Given the description of an element on the screen output the (x, y) to click on. 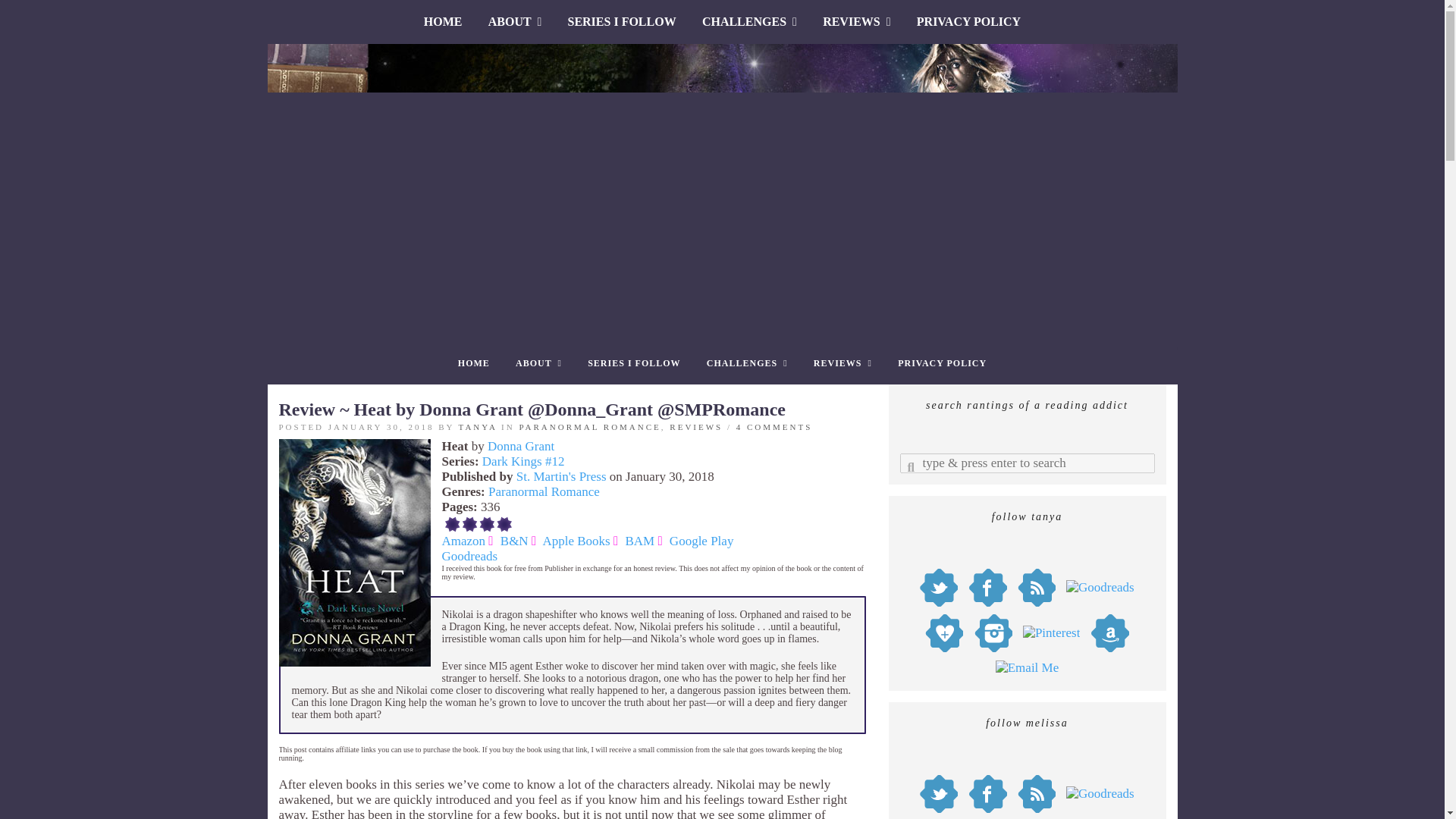
CHALLENGES   (749, 22)
View all posts in Reviews (695, 426)
ABOUT   (538, 363)
REVIEWS   (855, 22)
PRIVACY POLICY (968, 22)
REVIEWS   (842, 363)
View all posts in Paranormal Romance (589, 426)
HOME (443, 22)
HOME (473, 363)
ABOUT   (515, 22)
SERIES I FOLLOW (621, 22)
SERIES I FOLLOW (633, 363)
CHALLENGES   (747, 363)
